Given the description of an element on the screen output the (x, y) to click on. 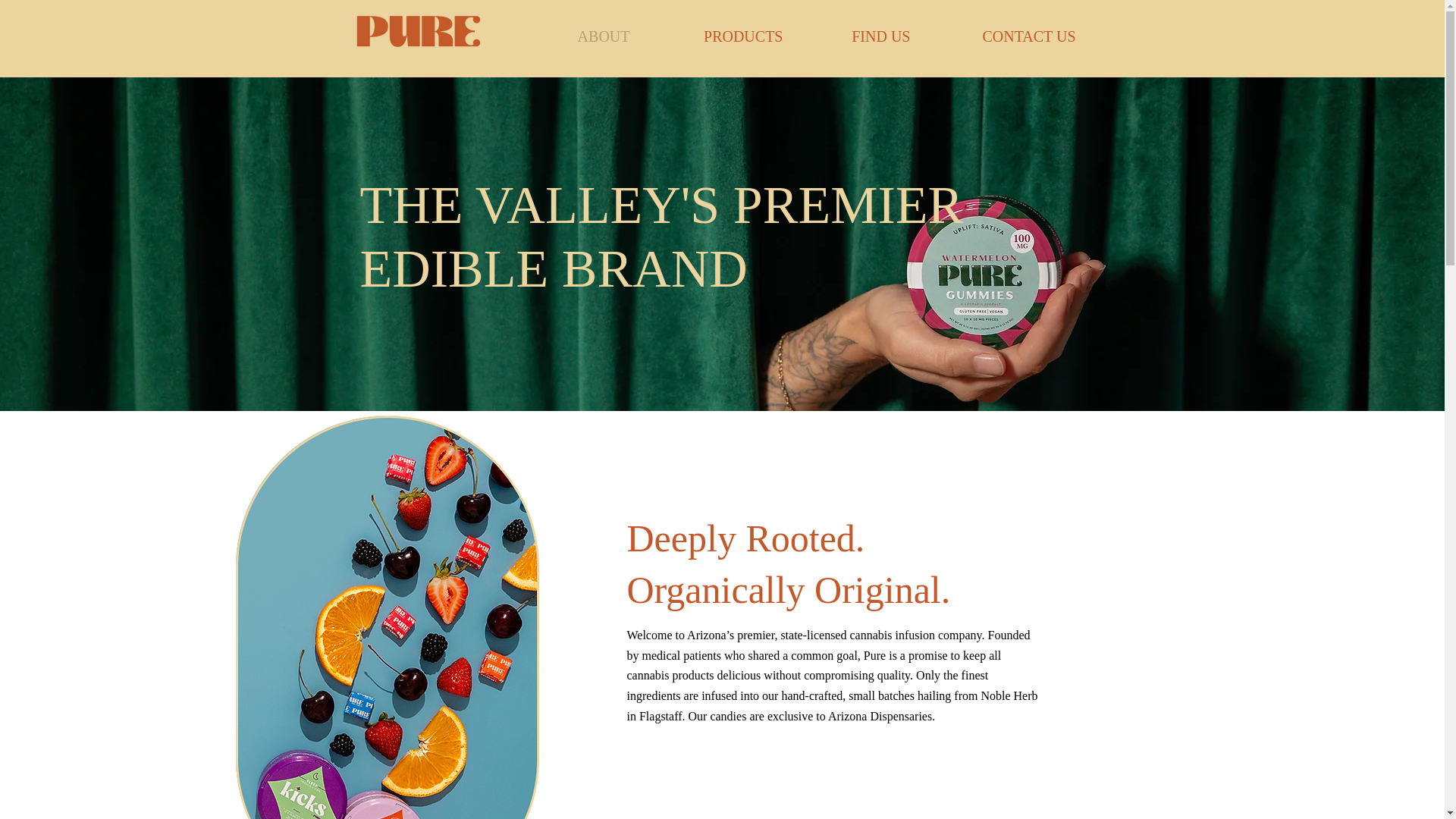
ABOUT (576, 36)
FIND US (853, 36)
CONTACT US (1000, 36)
